Given the description of an element on the screen output the (x, y) to click on. 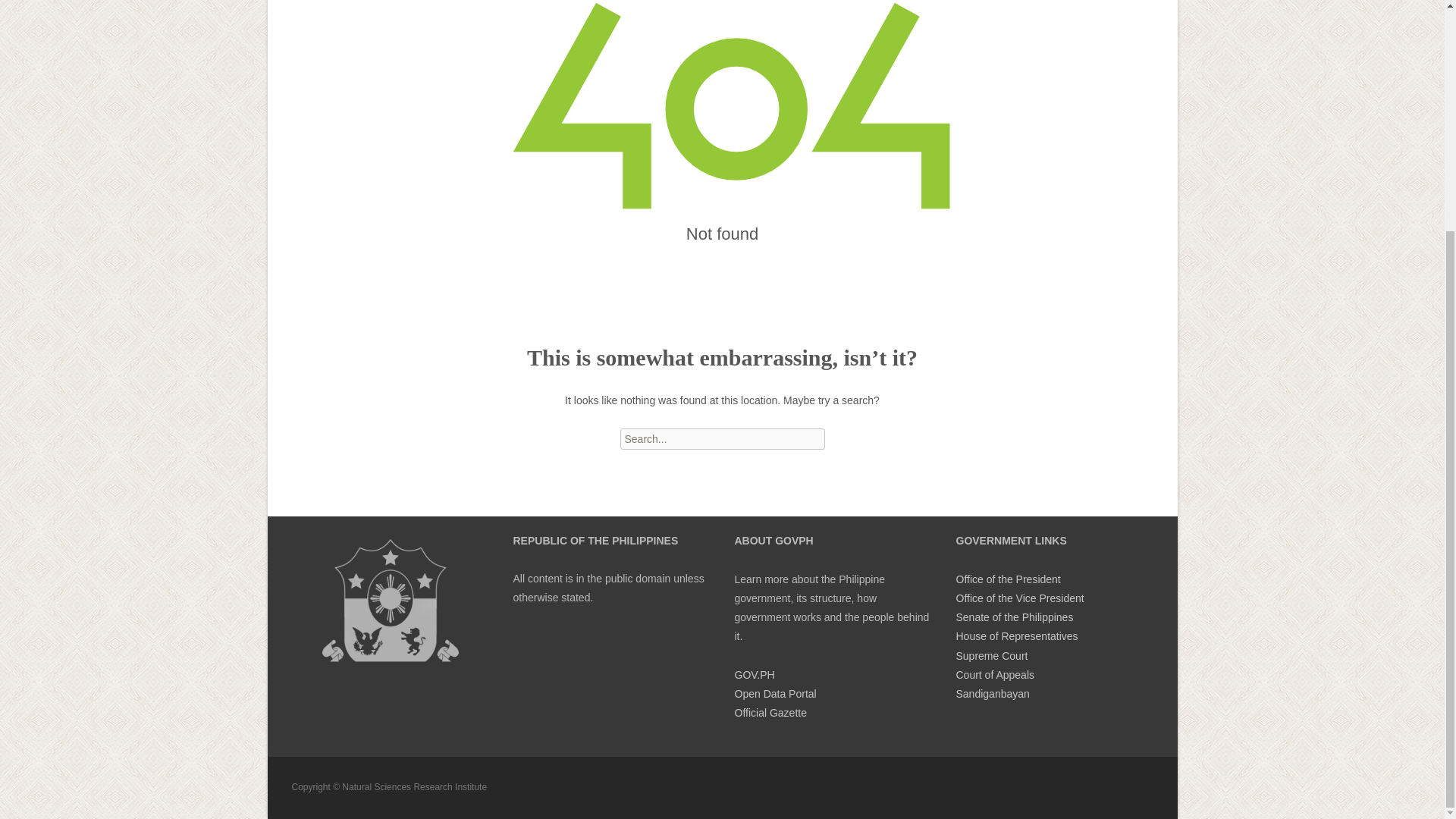
GOV.PH (753, 674)
Office of the President (1007, 579)
Supreme Court (991, 655)
Sandiganbayan (992, 693)
Senate of the Philippines (1014, 616)
Search for: (722, 438)
Official Gazette (769, 712)
Court of Appeals (994, 674)
House of Representatives (1016, 635)
Office of the Vice President (1019, 598)
Open Data Portal (774, 693)
